Given the description of an element on the screen output the (x, y) to click on. 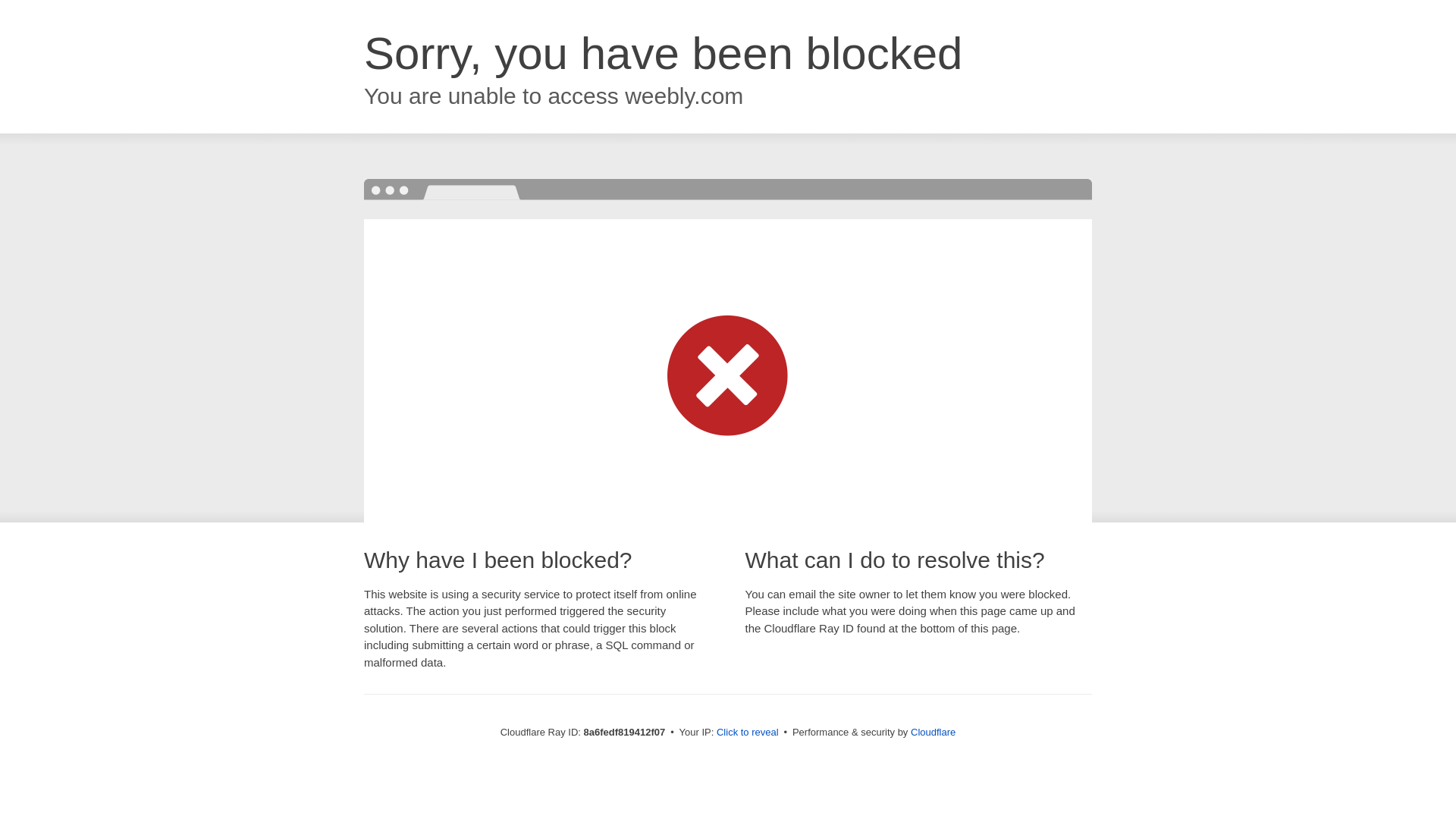
Cloudflare (933, 731)
Click to reveal (747, 732)
